Given the description of an element on the screen output the (x, y) to click on. 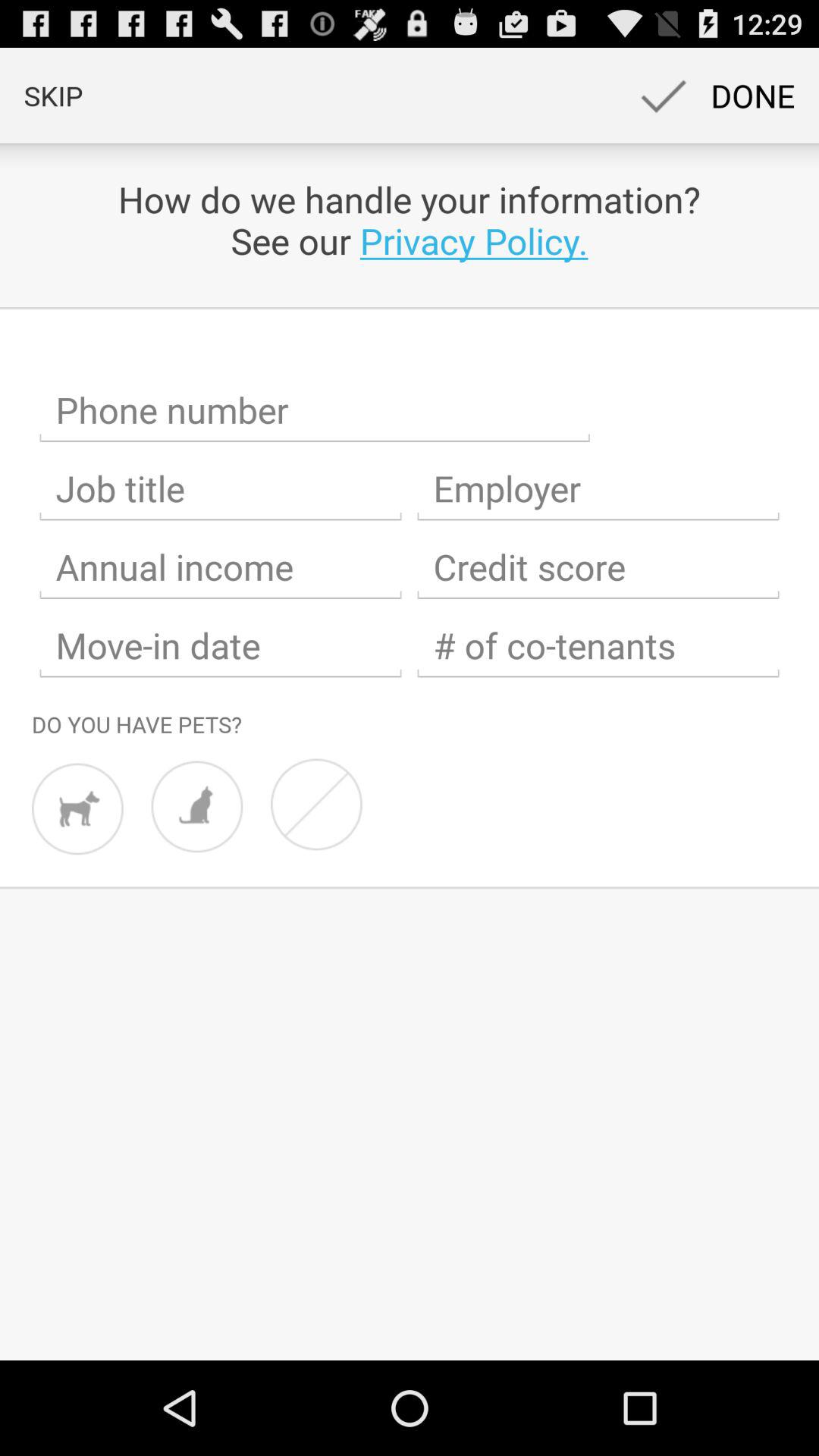
select option (598, 488)
